Given the description of an element on the screen output the (x, y) to click on. 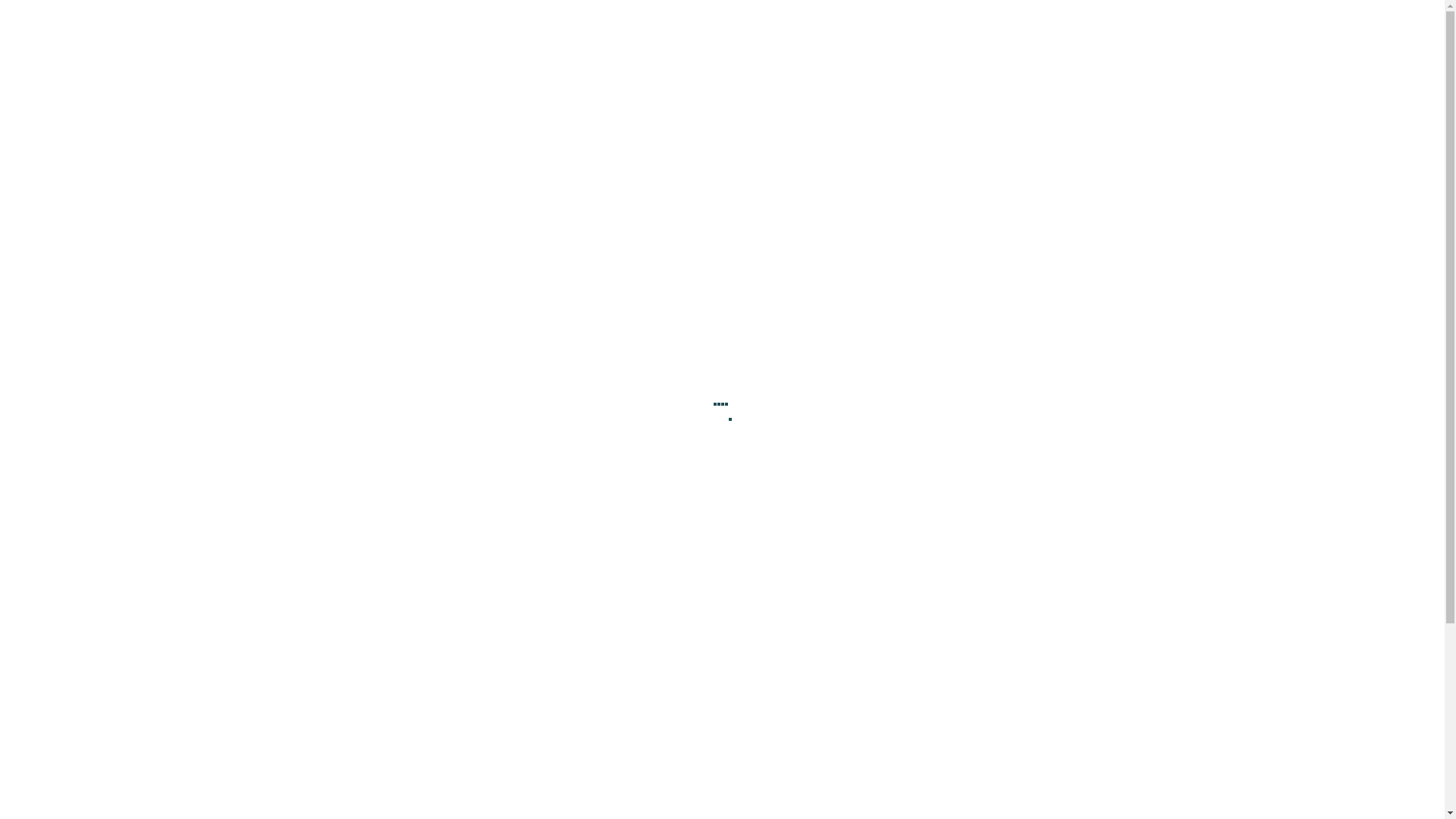
Warranty Policy Element type: text (817, 765)
About Us Element type: text (689, 207)
Lpenjoy@hotmail.com Element type: text (441, 13)
here Element type: text (253, 496)
About Us Element type: text (595, 687)
Contact Element type: text (777, 207)
Home Element type: text (515, 207)
Shipping Policy Element type: text (817, 739)
Store Loaction Element type: text (888, 207)
Privacy Policy Element type: text (817, 687)
Home Element type: text (669, 299)
Products Element type: text (593, 207)
Lpenjoy@hotmail.com Element type: text (1010, 750)
Refund Policy Element type: text (817, 713)
